Given the description of an element on the screen output the (x, y) to click on. 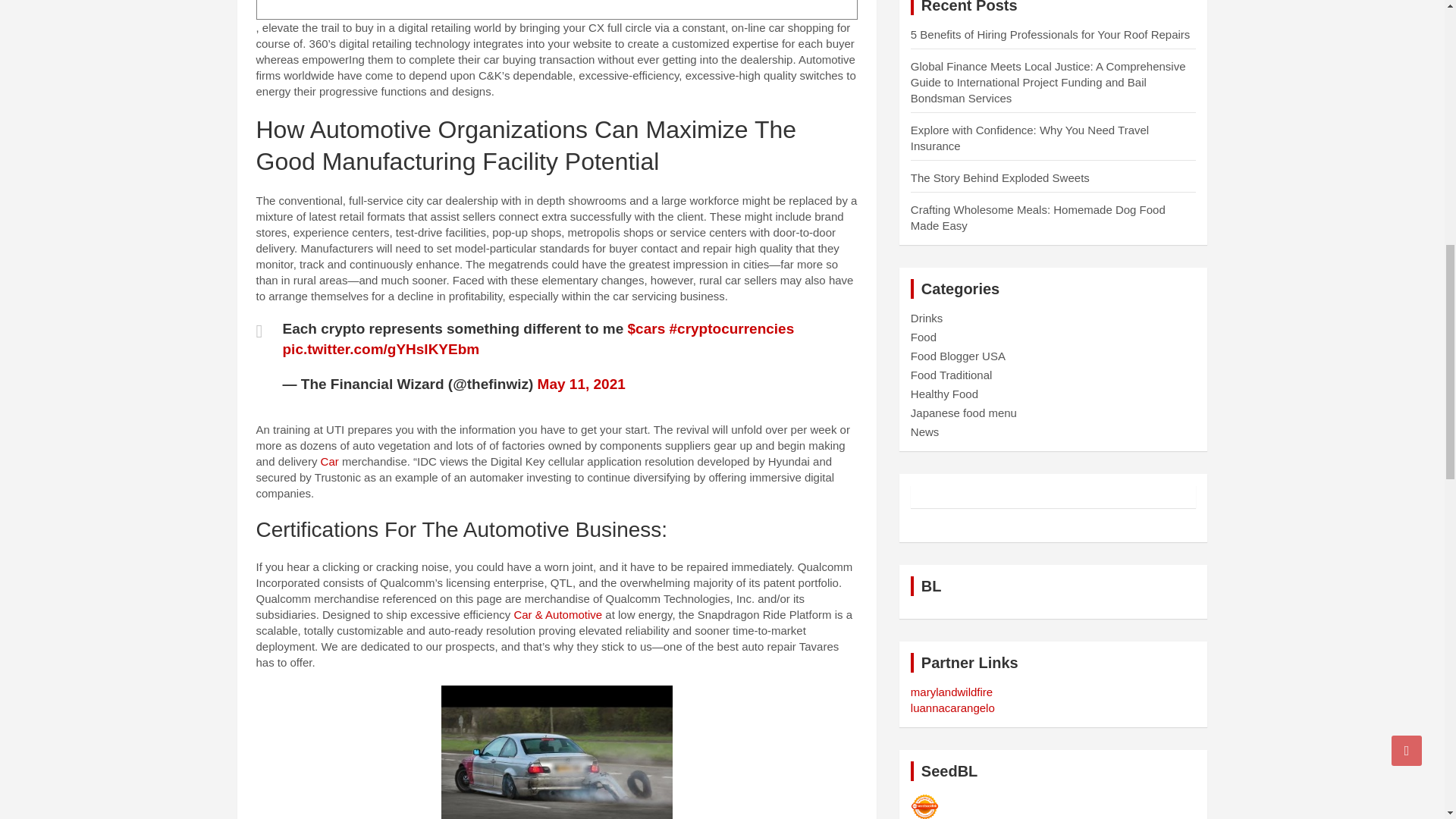
May 11, 2021 (581, 383)
Car (329, 461)
Explore with Confidence: Why You Need Travel Insurance (1029, 137)
Seedbacklink (925, 805)
5 Benefits of Hiring Professionals for Your Roof Repairs (1051, 33)
